Given the description of an element on the screen output the (x, y) to click on. 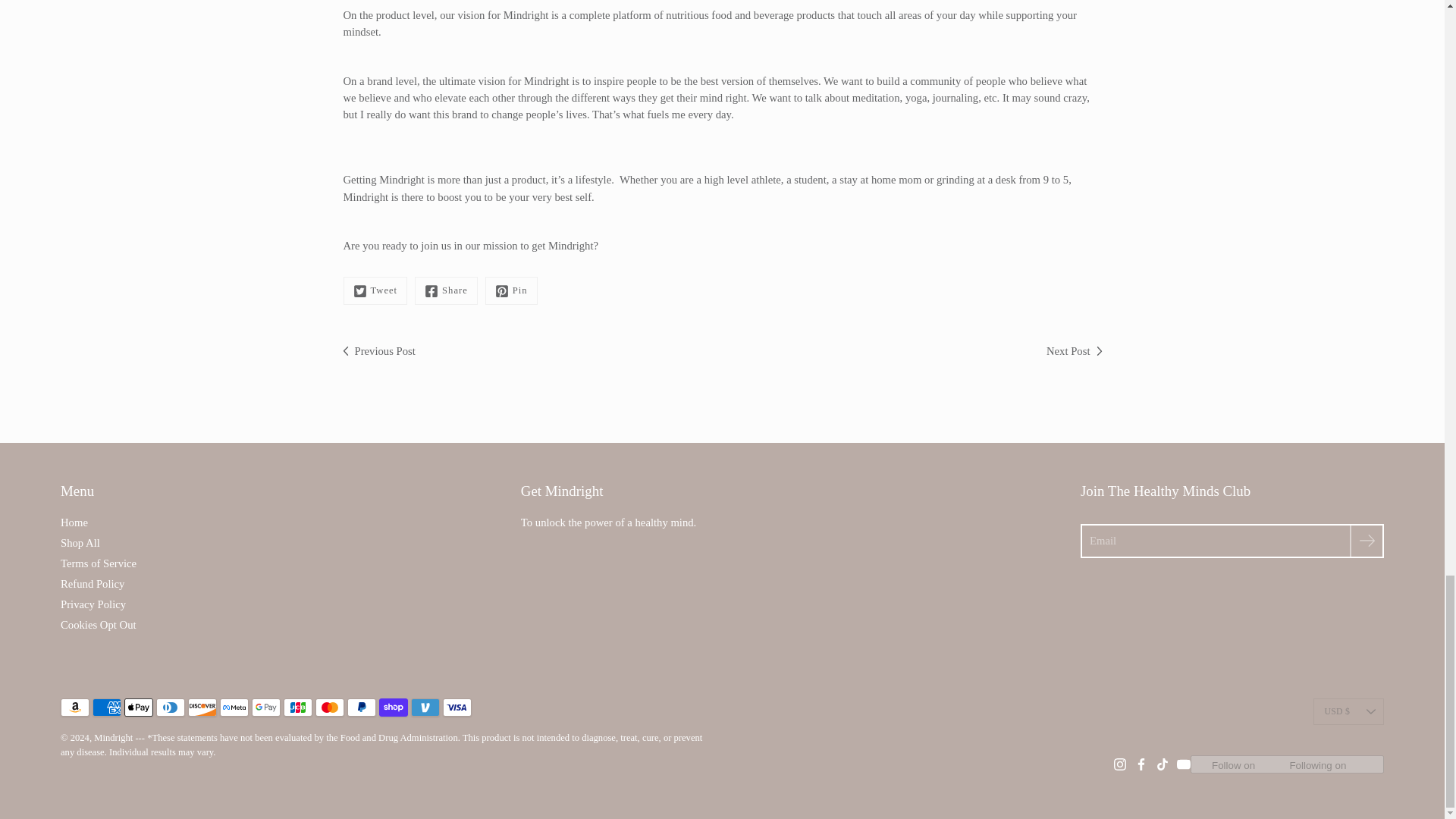
Next Post (1074, 351)
Facebook (445, 290)
Discover (201, 707)
Apple Pay (137, 707)
Amazon (74, 707)
American Express (106, 707)
Previous Post (378, 351)
Home (74, 522)
Shop All (80, 542)
Terms of Service (98, 563)
Share (445, 290)
Refund Policy (92, 583)
Twitter (374, 290)
Pin (510, 290)
Diners Club (169, 707)
